Given the description of an element on the screen output the (x, y) to click on. 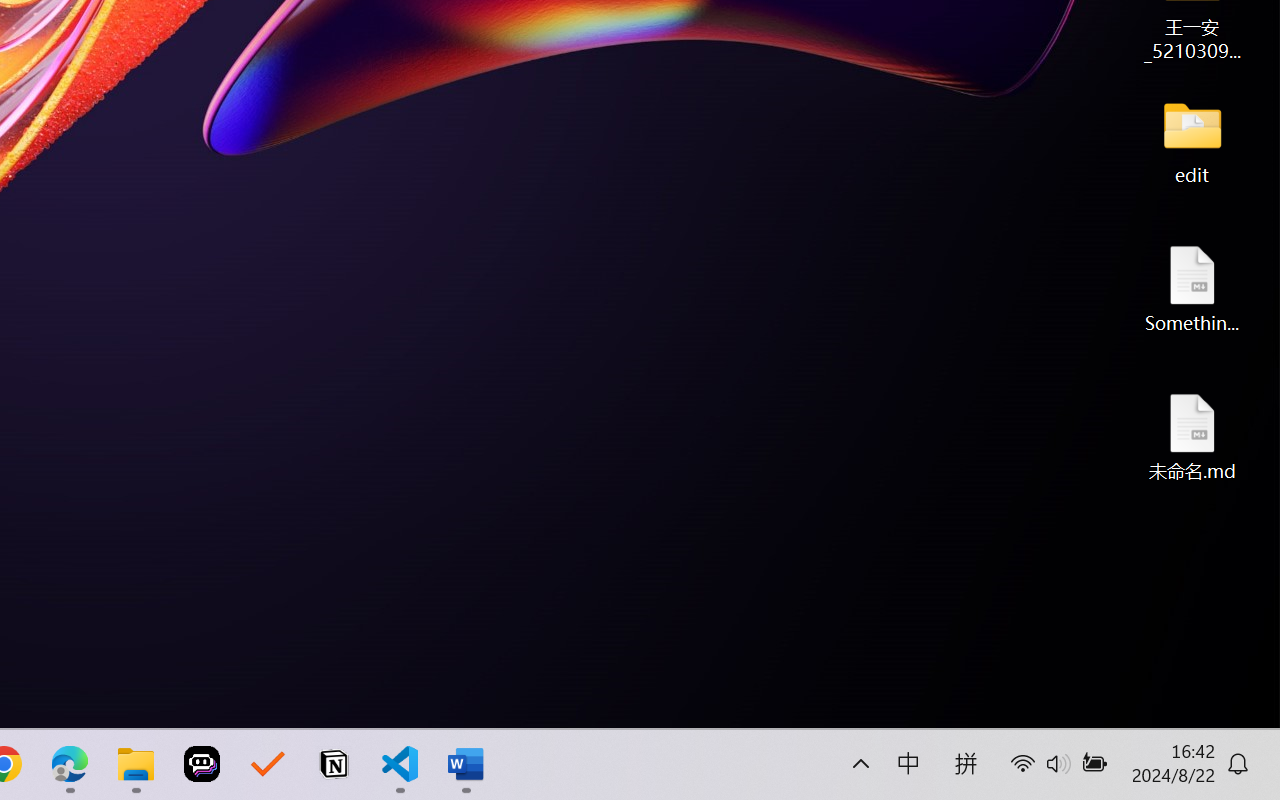
edit (1192, 140)
Something.md (1192, 288)
